Given the description of an element on the screen output the (x, y) to click on. 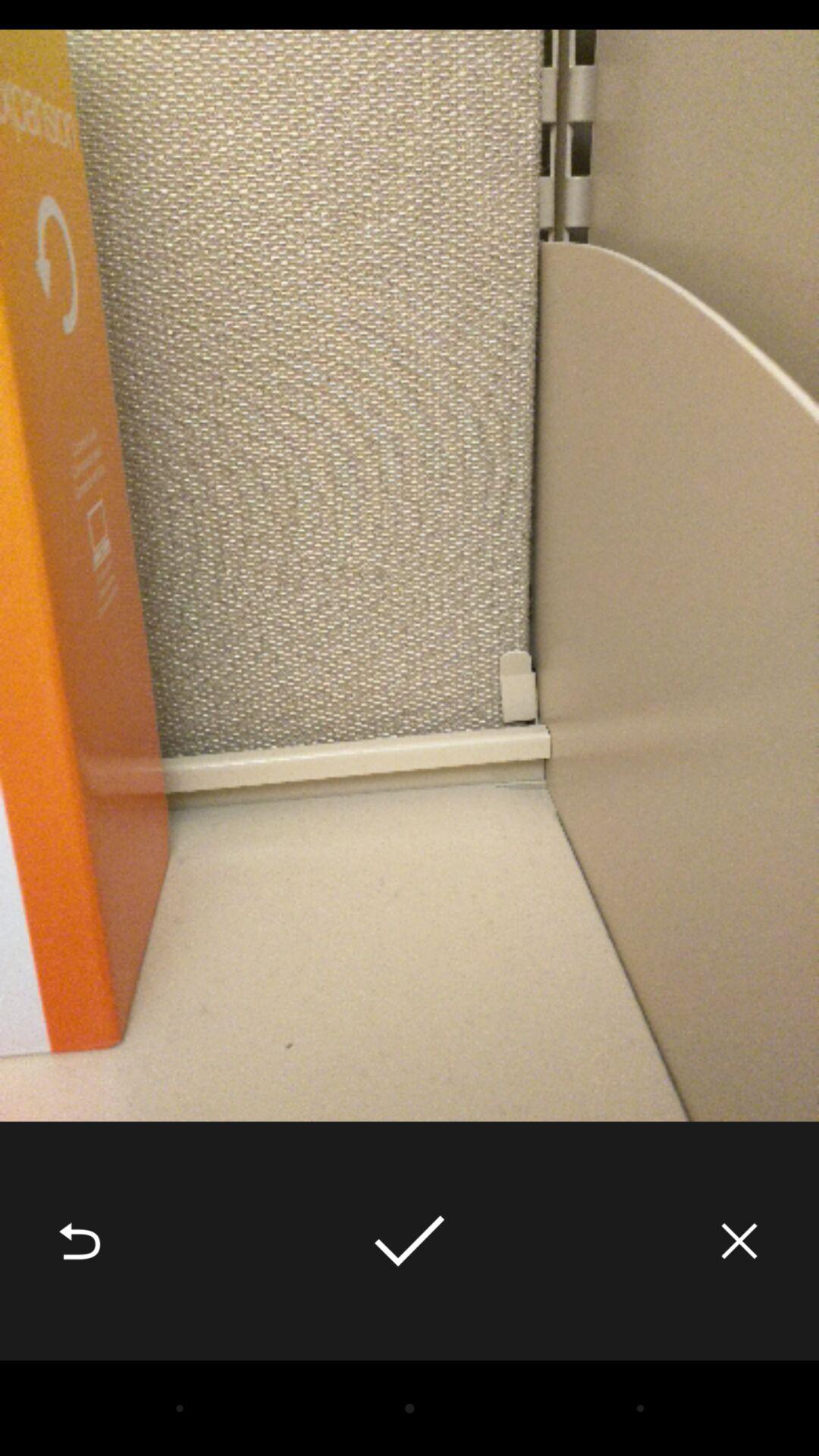
launch the icon at the bottom left corner (79, 1240)
